Given the description of an element on the screen output the (x, y) to click on. 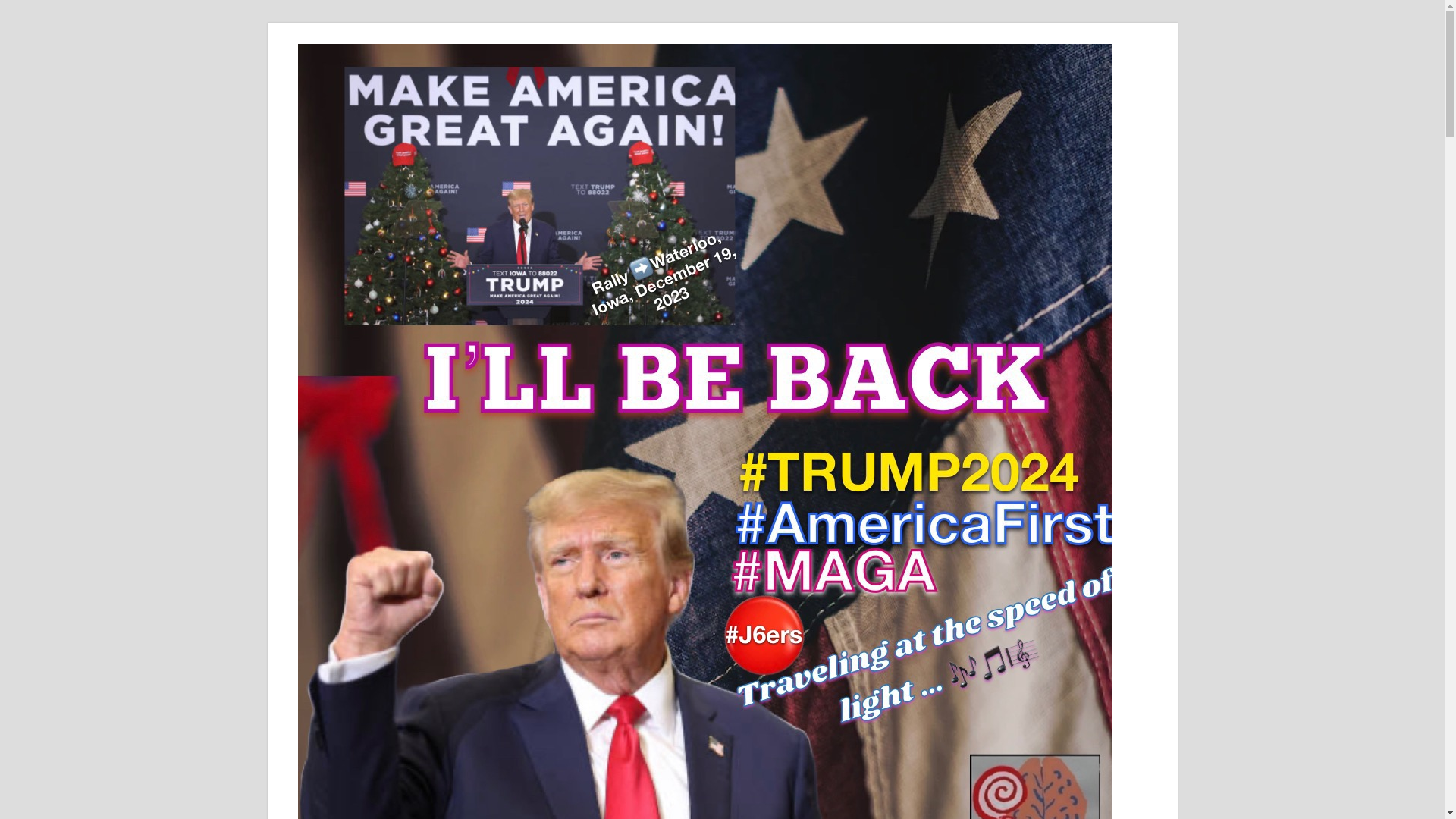
Leaf Blogazine (1188, 91)
